Given the description of an element on the screen output the (x, y) to click on. 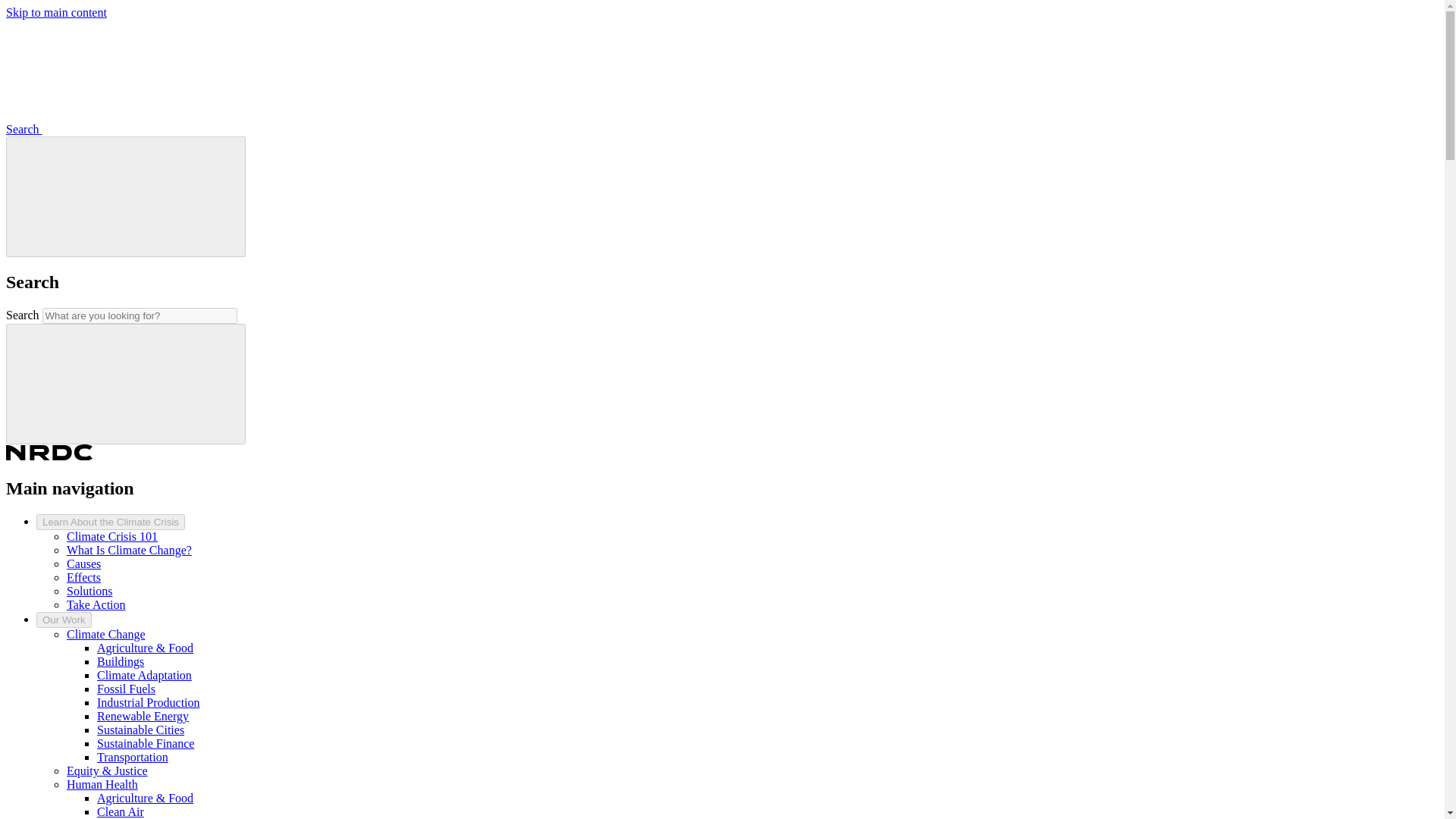
Sustainable Cities (140, 729)
Take Action (95, 604)
Close search (125, 196)
NRDC (49, 455)
Climate Change (105, 634)
Sustainable Finance (145, 743)
Solutions (89, 590)
Causes (83, 563)
Renewable Energy (143, 716)
Industrial Production (148, 702)
